Given the description of an element on the screen output the (x, y) to click on. 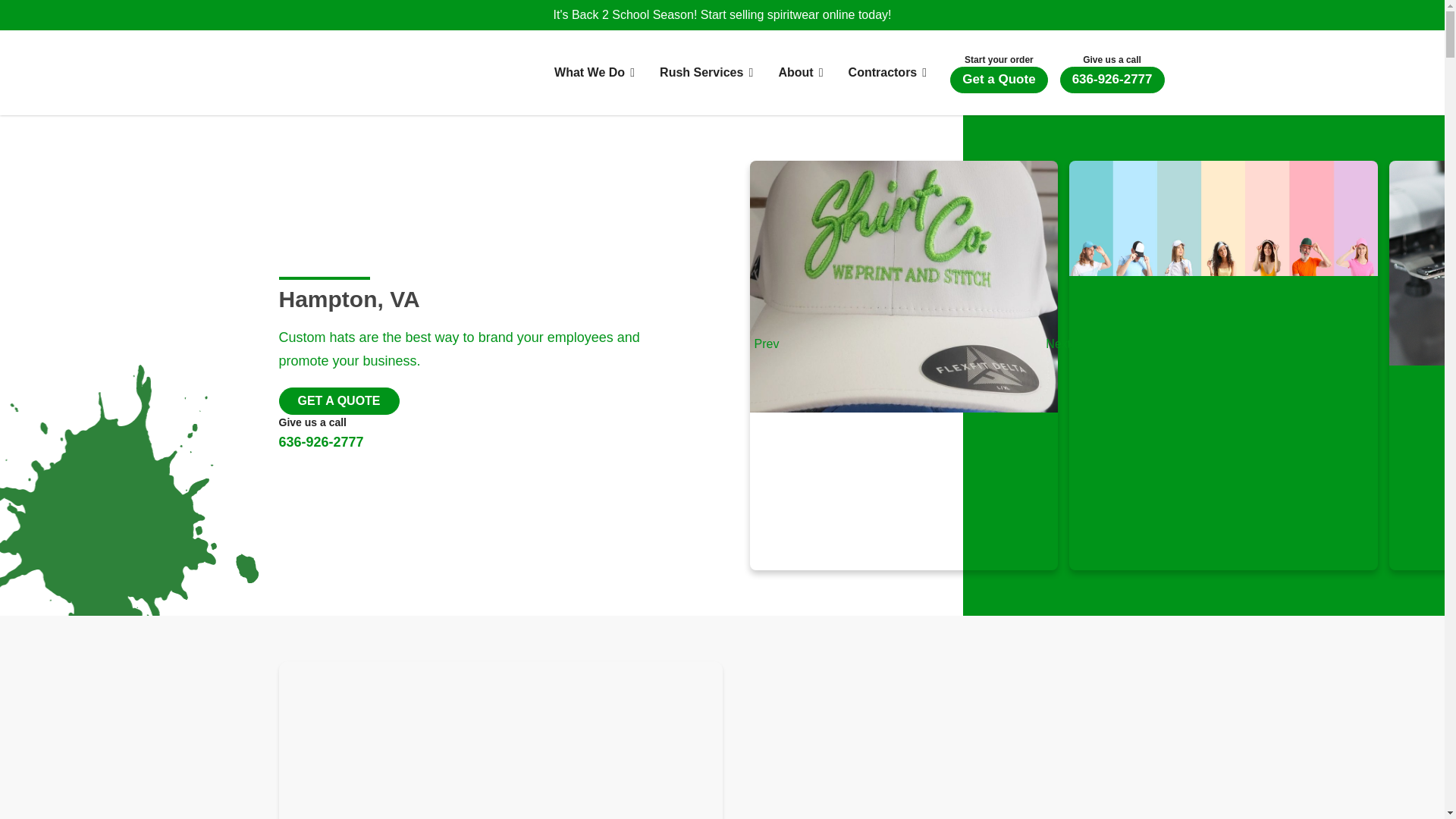
What We Do (593, 72)
